Given the description of an element on the screen output the (x, y) to click on. 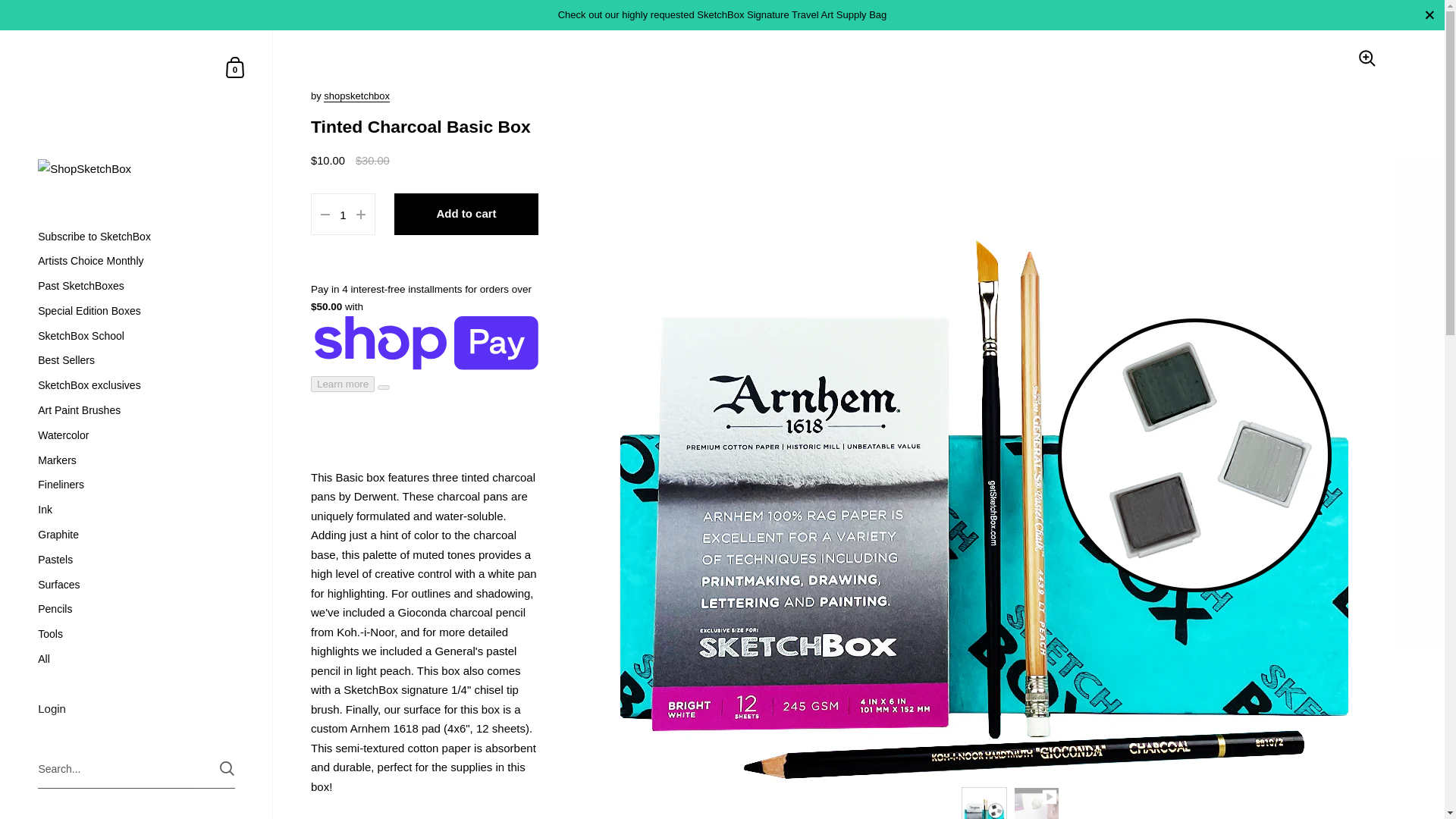
Pencils (136, 609)
Surfaces (136, 584)
Subscribe to SketchBox (136, 236)
Shopping Cart (235, 66)
Special Edition Boxes (136, 310)
Fineliners (136, 484)
Markers (136, 460)
Add to cart (466, 214)
Ink (136, 509)
Best Sellers (136, 360)
